Given the description of an element on the screen output the (x, y) to click on. 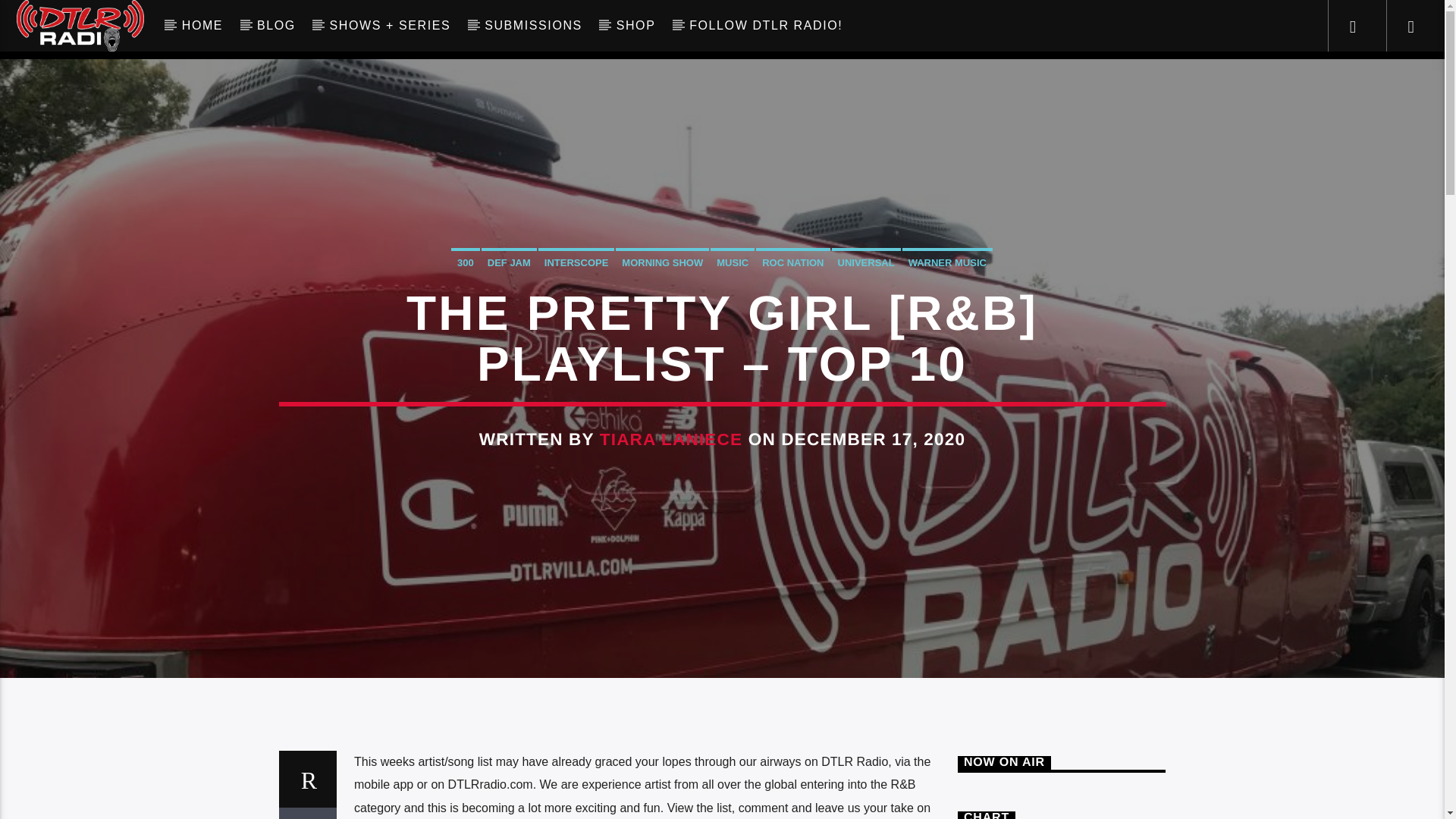
FOLLOW DTLR RADIO! (766, 25)
Posts by Tiara LaNiece (670, 438)
BLOG (276, 25)
SHOP (635, 25)
HOME (202, 25)
SUBMISSIONS (533, 25)
